Given the description of an element on the screen output the (x, y) to click on. 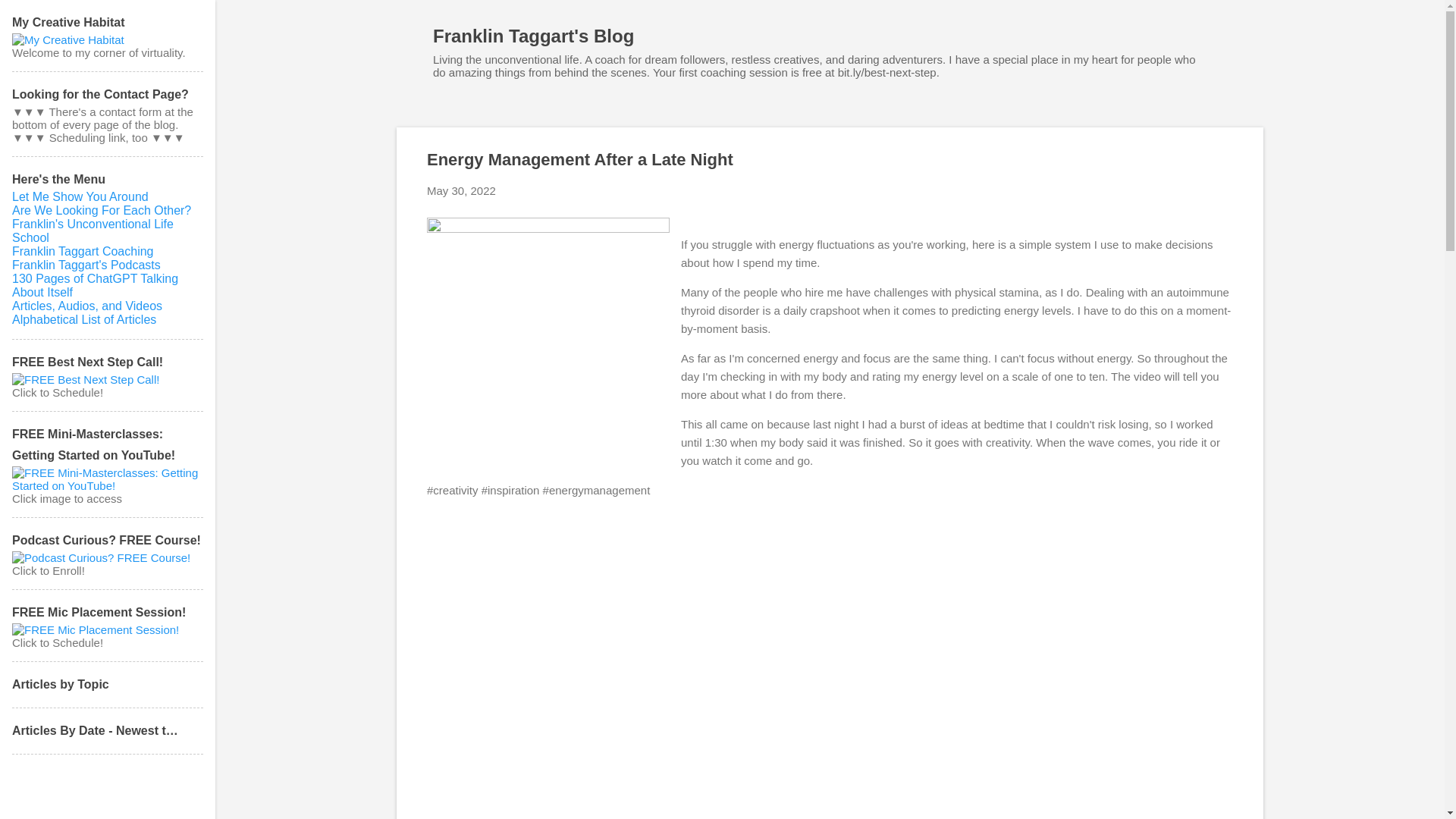
Franklin Taggart's Podcasts (85, 264)
Are We Looking For Each Other? (100, 210)
YouTube video player (638, 630)
Search (29, 18)
Let Me Show You Around (79, 196)
Franklin's Unconventional Life School (92, 230)
Articles, Audios, and Videos (86, 305)
130 Pages of ChatGPT Talking About Itself (94, 284)
Franklin Taggart Coaching (81, 250)
Alphabetical List of Articles (83, 318)
Franklin Taggart's Blog (532, 35)
permanent link (461, 190)
May 30, 2022 (461, 190)
